Given the description of an element on the screen output the (x, y) to click on. 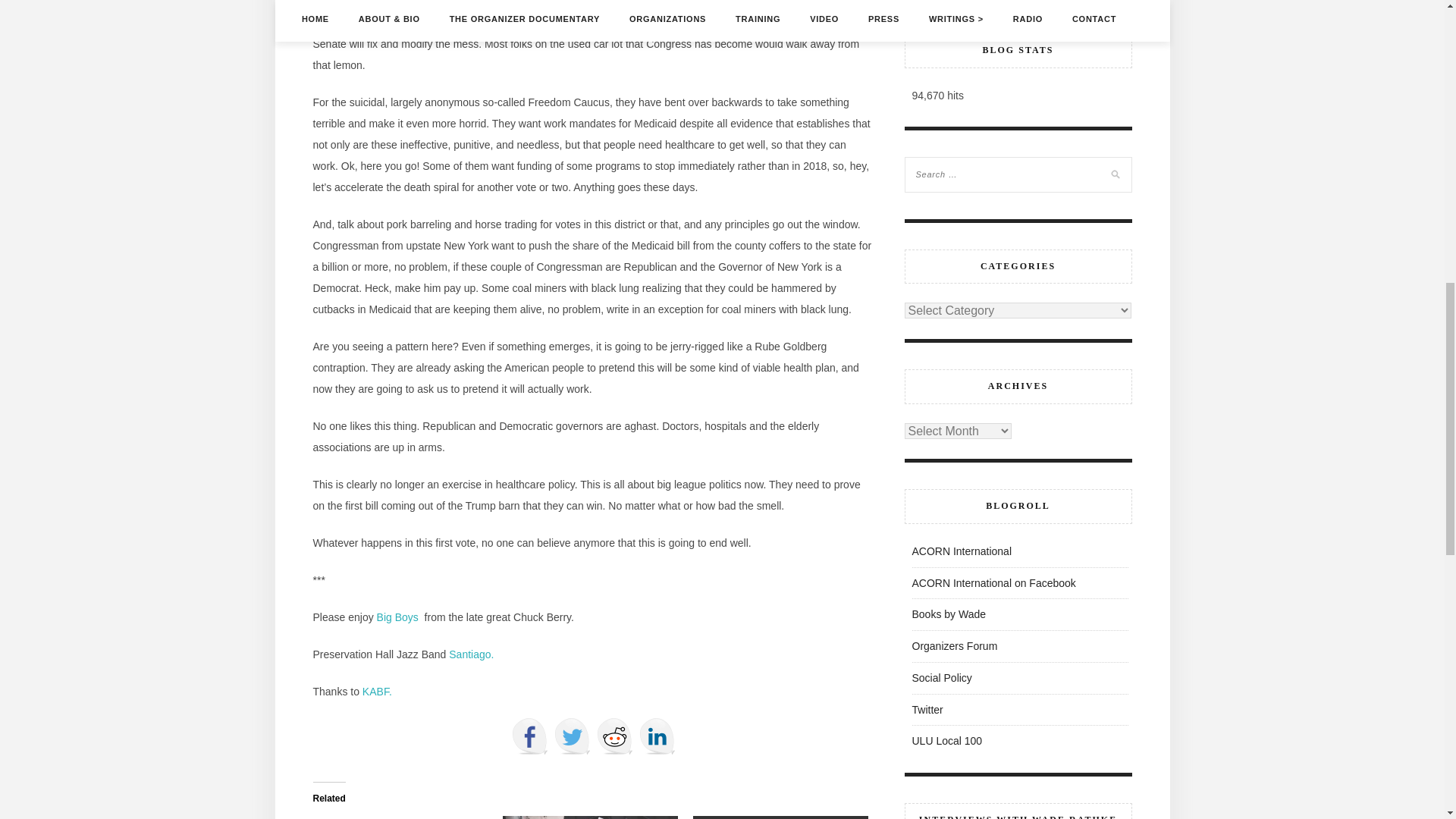
Share on Facebook (529, 736)
Share on Reddit (613, 736)
Big Boys  (401, 616)
Santiago. (470, 654)
Share on LinkedIn (657, 736)
Share on Twitter (571, 736)
KABF. (375, 691)
